Given the description of an element on the screen output the (x, y) to click on. 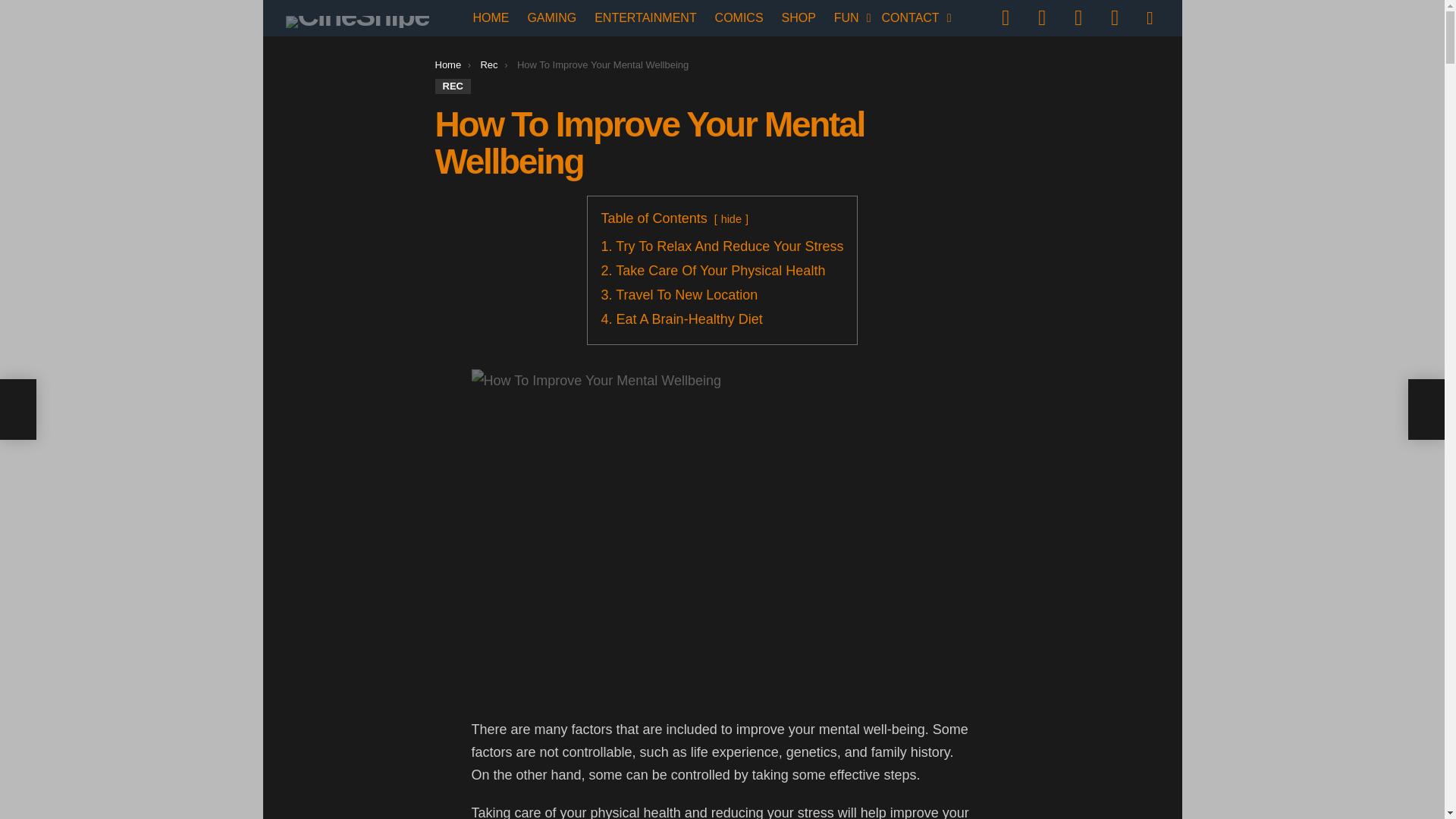
ENTERTAINMENT (645, 17)
hide (730, 218)
REC (452, 86)
4. Eat A Brain-Healthy Diet (681, 319)
3. Travel To New Location (679, 294)
FUN (848, 17)
COMICS (739, 17)
Home (448, 64)
Rec (488, 64)
Facebook (1005, 18)
2. Take Care Of Your Physical Health (713, 270)
GAMING (551, 17)
CONTACT (911, 17)
1. Try To Relax And Reduce Your Stress (722, 246)
